Given the description of an element on the screen output the (x, y) to click on. 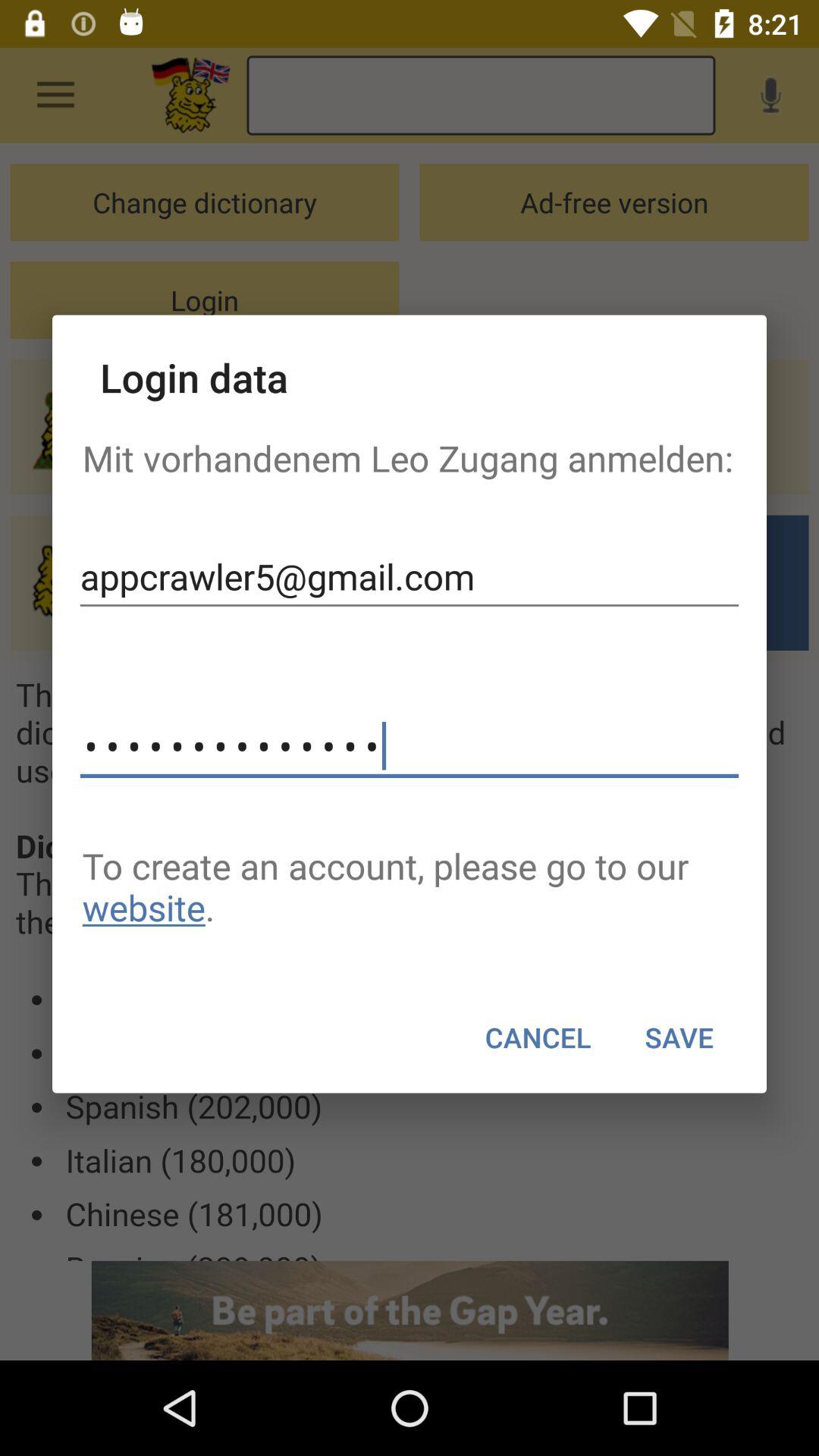
open the icon at the bottom (538, 1037)
